Given the description of an element on the screen output the (x, y) to click on. 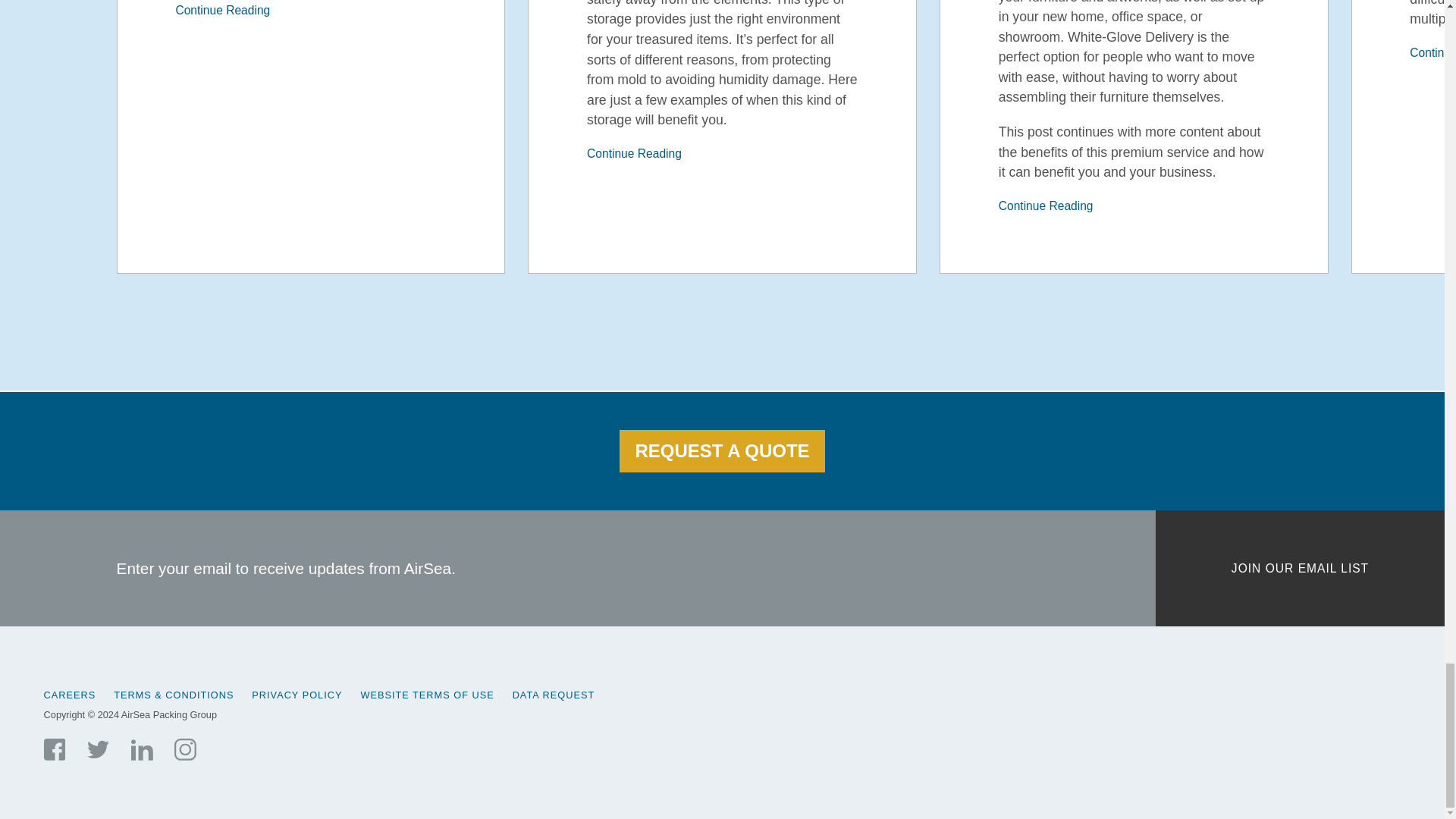
Like AirSea Packing on Facebook (54, 749)
Connect with AirSea Packing on Linkedin (141, 749)
